Given the description of an element on the screen output the (x, y) to click on. 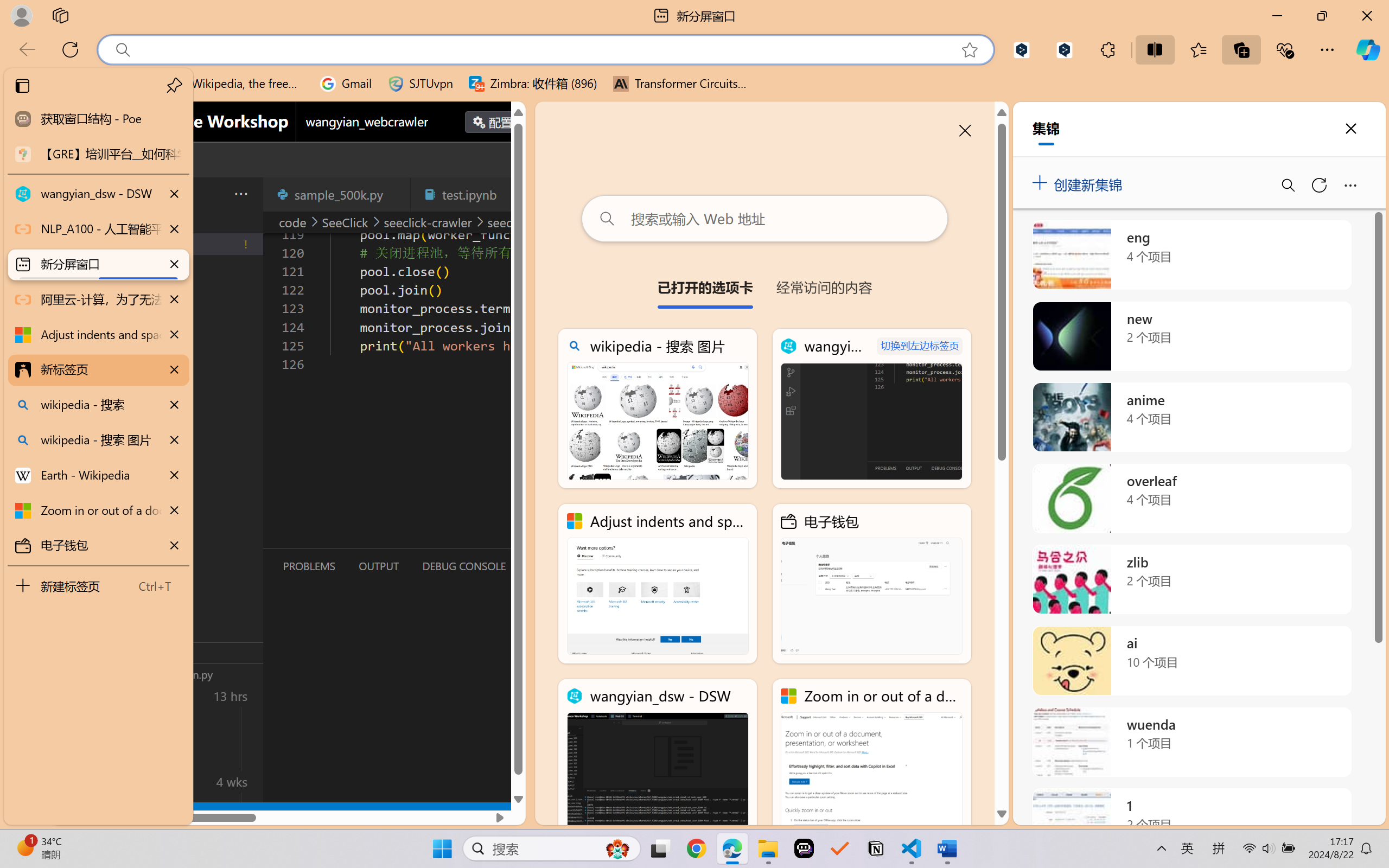
Output (Ctrl+Shift+U) (377, 565)
Views and More Actions... (240, 193)
wangyian_dsw - DSW (97, 194)
Debug Console (Ctrl+Shift+Y) (463, 565)
wangyian_dsw - DSW (657, 758)
